Given the description of an element on the screen output the (x, y) to click on. 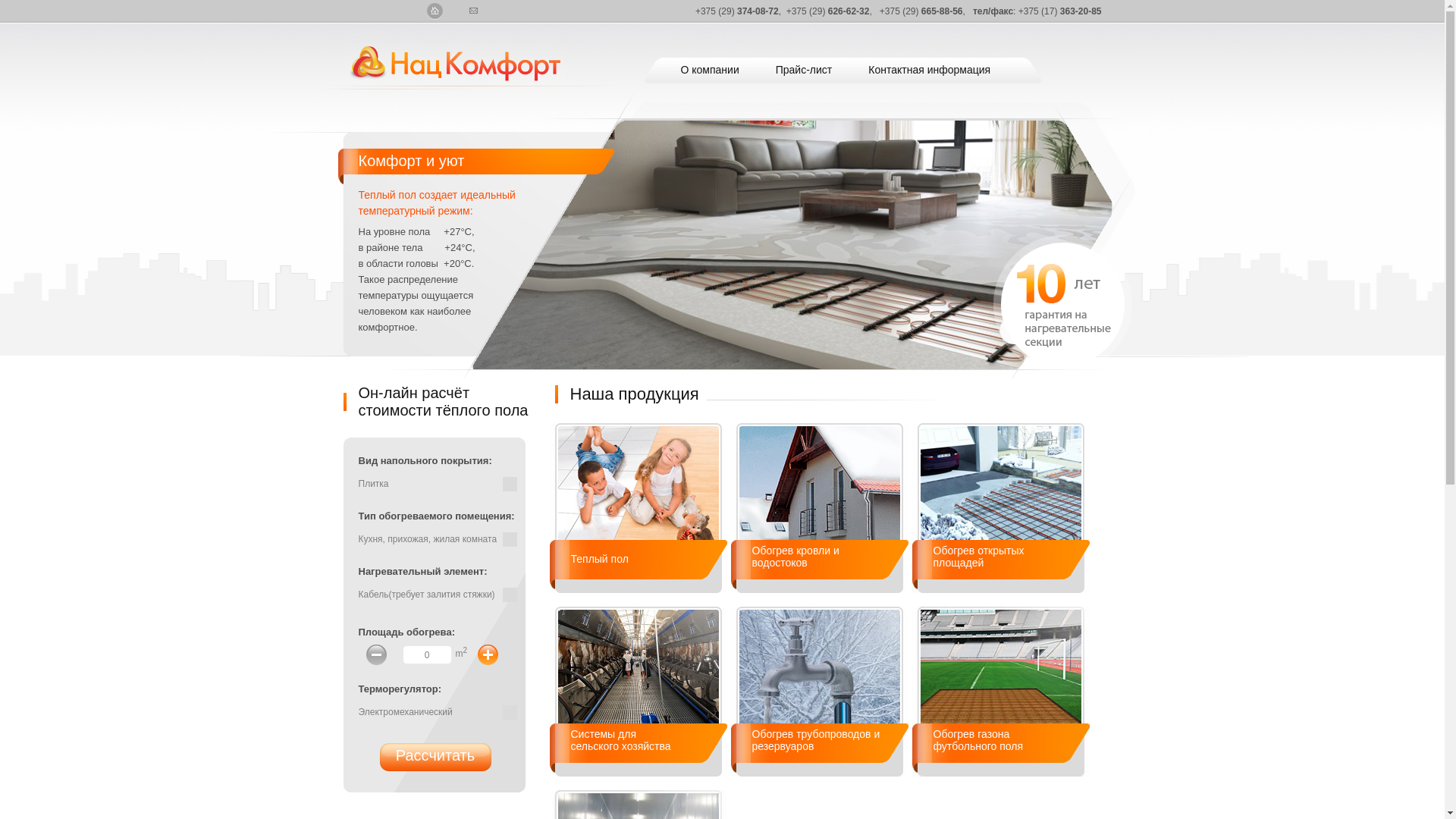
1 Element type: text (1014, 330)
3 Element type: text (1055, 330)
4 Element type: text (1077, 330)
2 Element type: text (1036, 330)
